Given the description of an element on the screen output the (x, y) to click on. 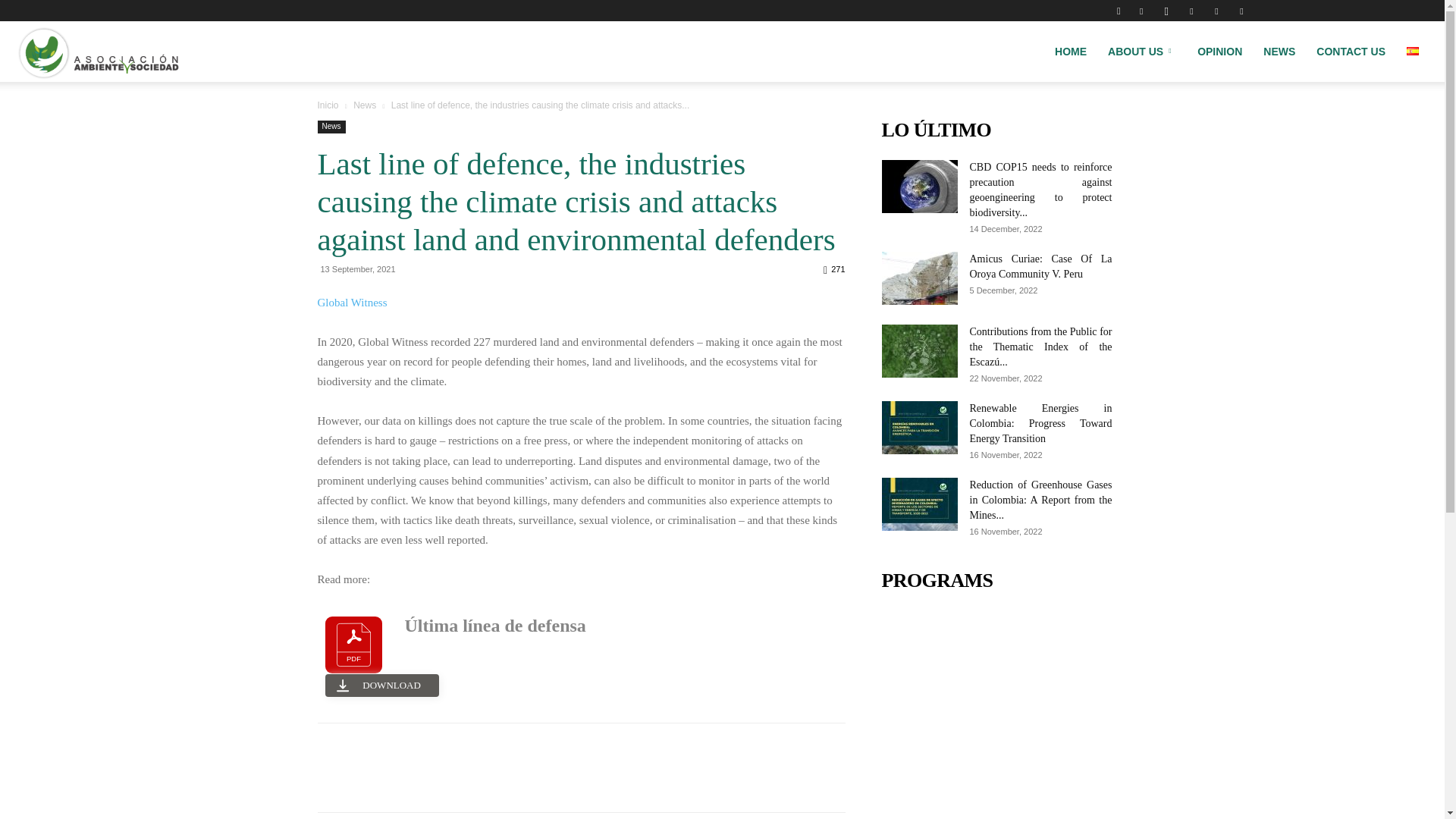
TikTok (1216, 10)
Inicio (327, 104)
Buscar (1211, 64)
OPINION (1219, 51)
Instagram (1165, 10)
Linkedin (1190, 10)
Ver todas las publicaciones en News (364, 104)
Twitter (1241, 10)
CONTACT US (1351, 51)
Facebook (1141, 10)
